Given the description of an element on the screen output the (x, y) to click on. 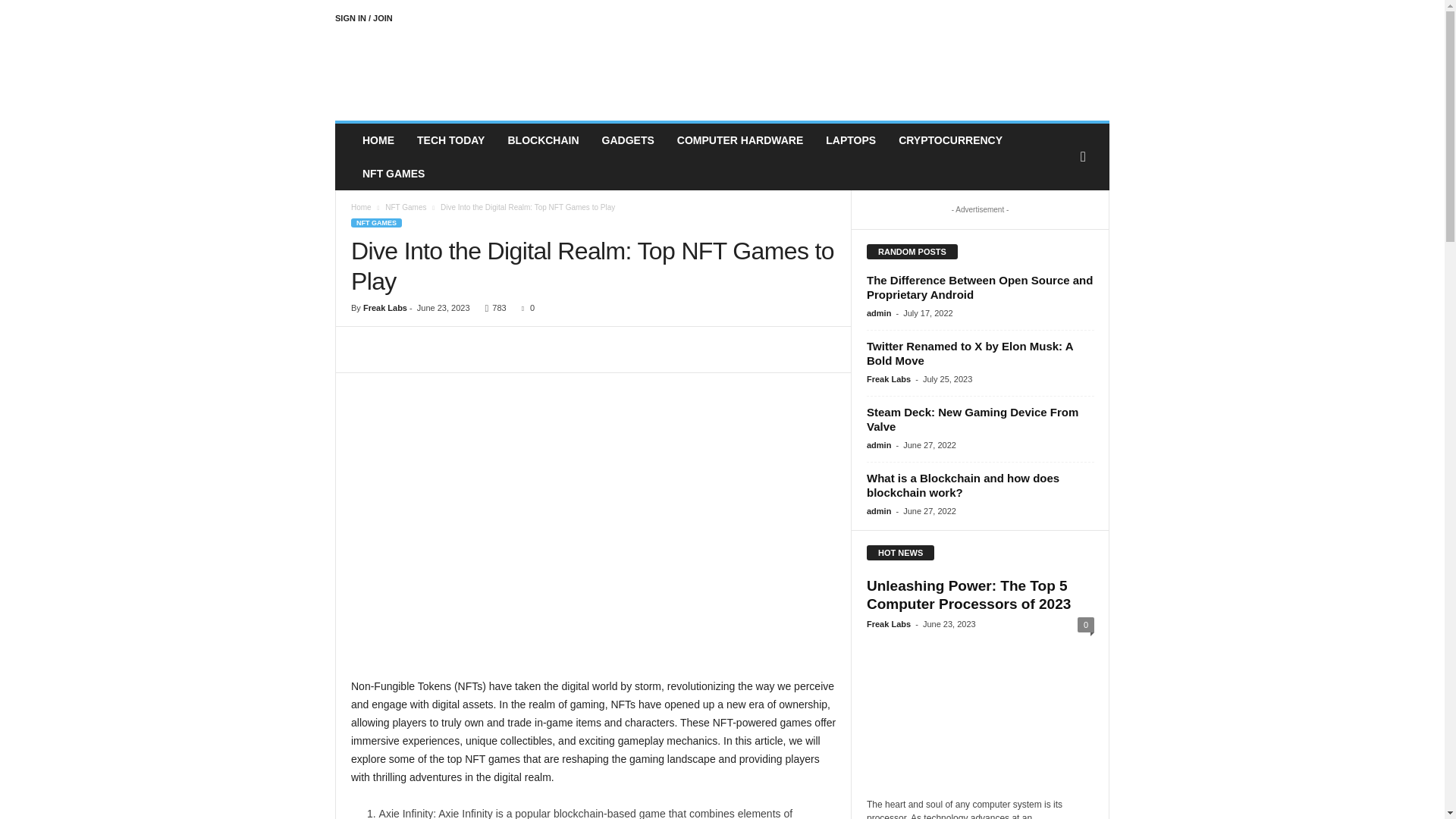
Home (360, 207)
0 (524, 307)
Freak Labs (384, 307)
TECH TODAY (451, 140)
HOME (378, 140)
COMPUTER HARDWARE (739, 140)
NFT GAMES (392, 173)
BLOCKCHAIN (542, 140)
View all posts in NFT Games (405, 207)
LAPTOPS (849, 140)
NFT GAMES (375, 222)
CRYPTOCURRENCY (949, 140)
GADGETS (628, 140)
NFT Games (405, 207)
Freak Labs (437, 70)
